Given the description of an element on the screen output the (x, y) to click on. 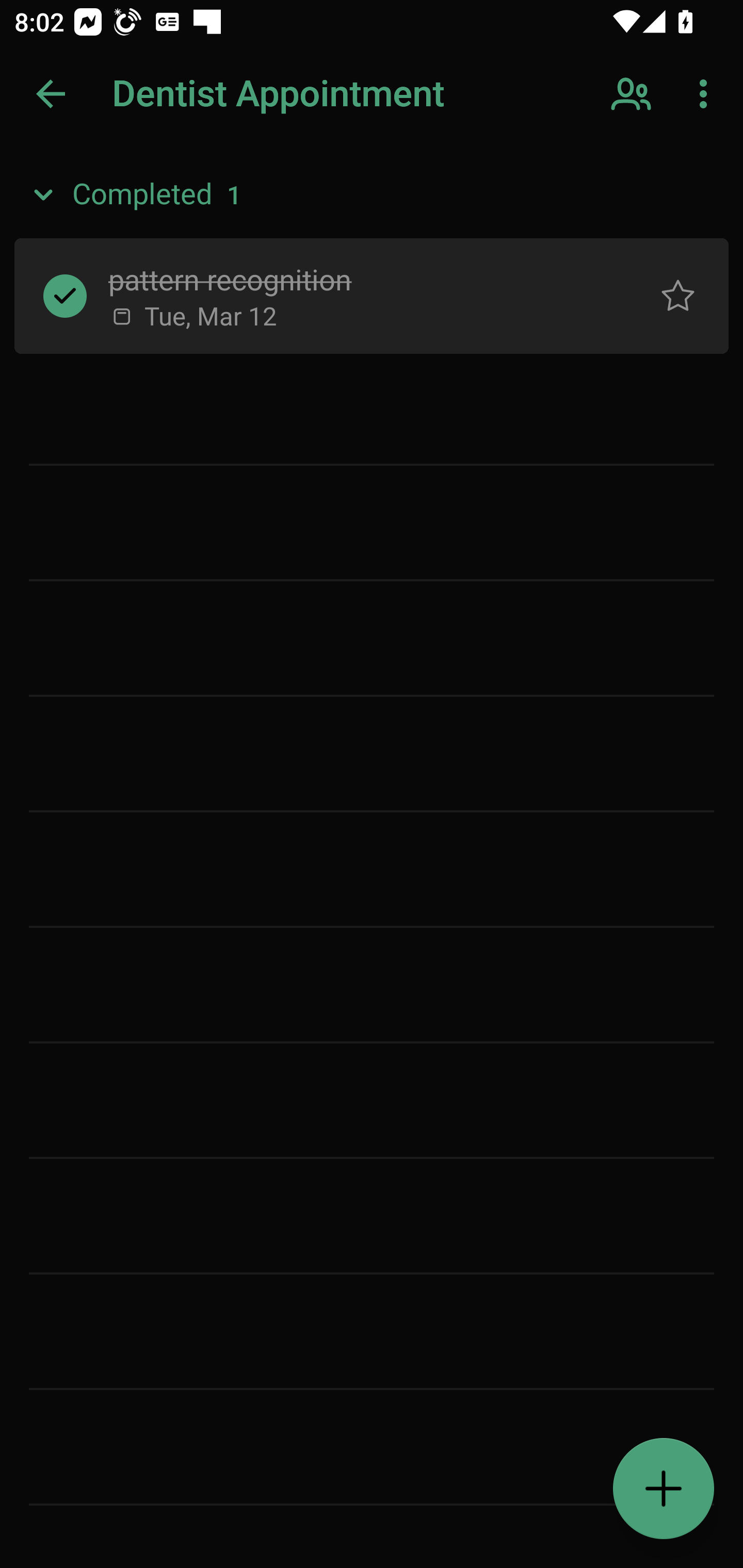
Back (50, 93)
Sharing options (632, 93)
More options (706, 93)
Completed, 1 item, Expanded Completed 1 (371, 195)
Completed task pattern recognition, Button (64, 295)
Normal task pattern recognition, Button (677, 295)
pattern recognition (356, 277)
Add a task (663, 1488)
